Given the description of an element on the screen output the (x, y) to click on. 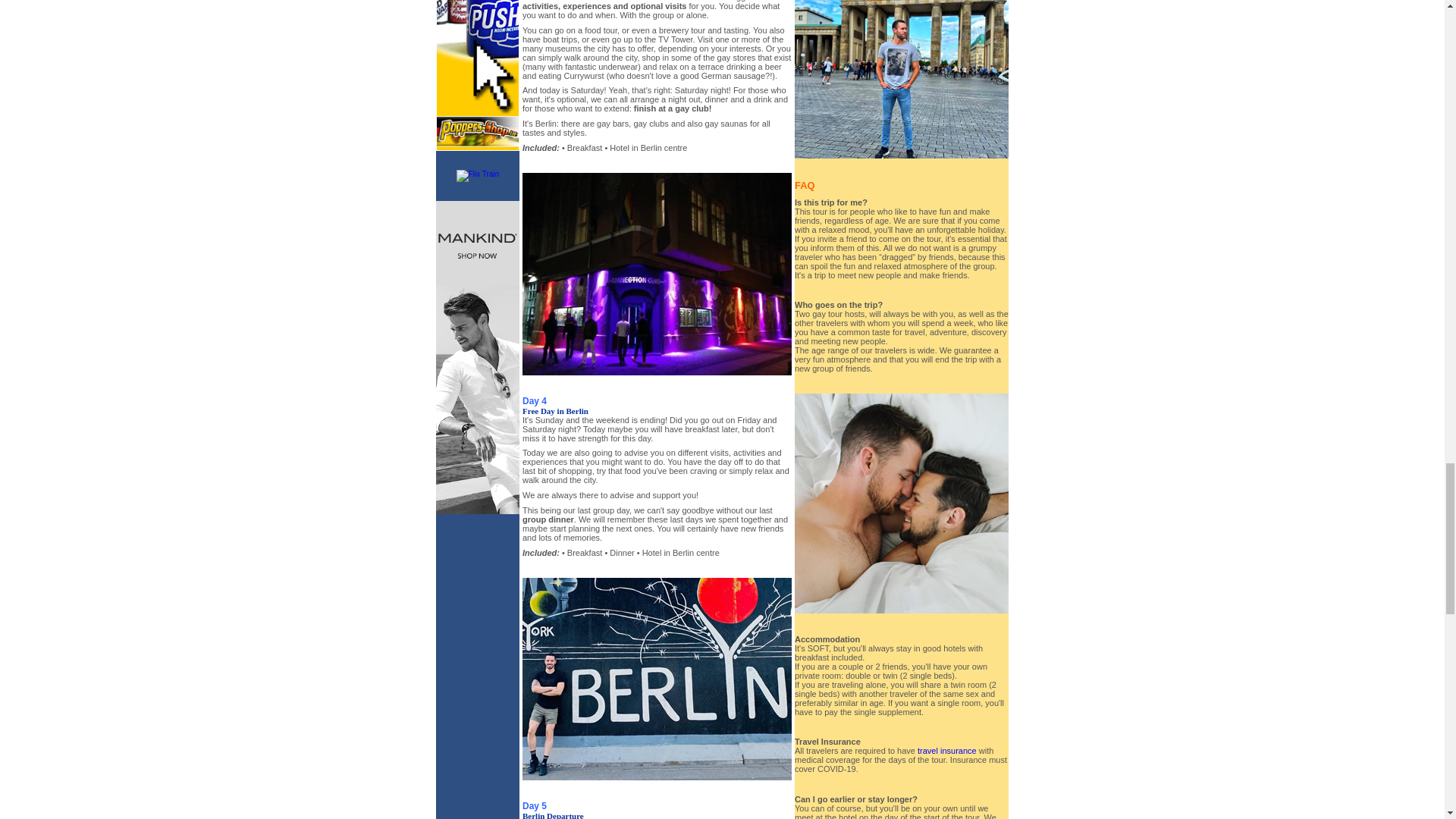
travel insurance (946, 750)
